Given the description of an element on the screen output the (x, y) to click on. 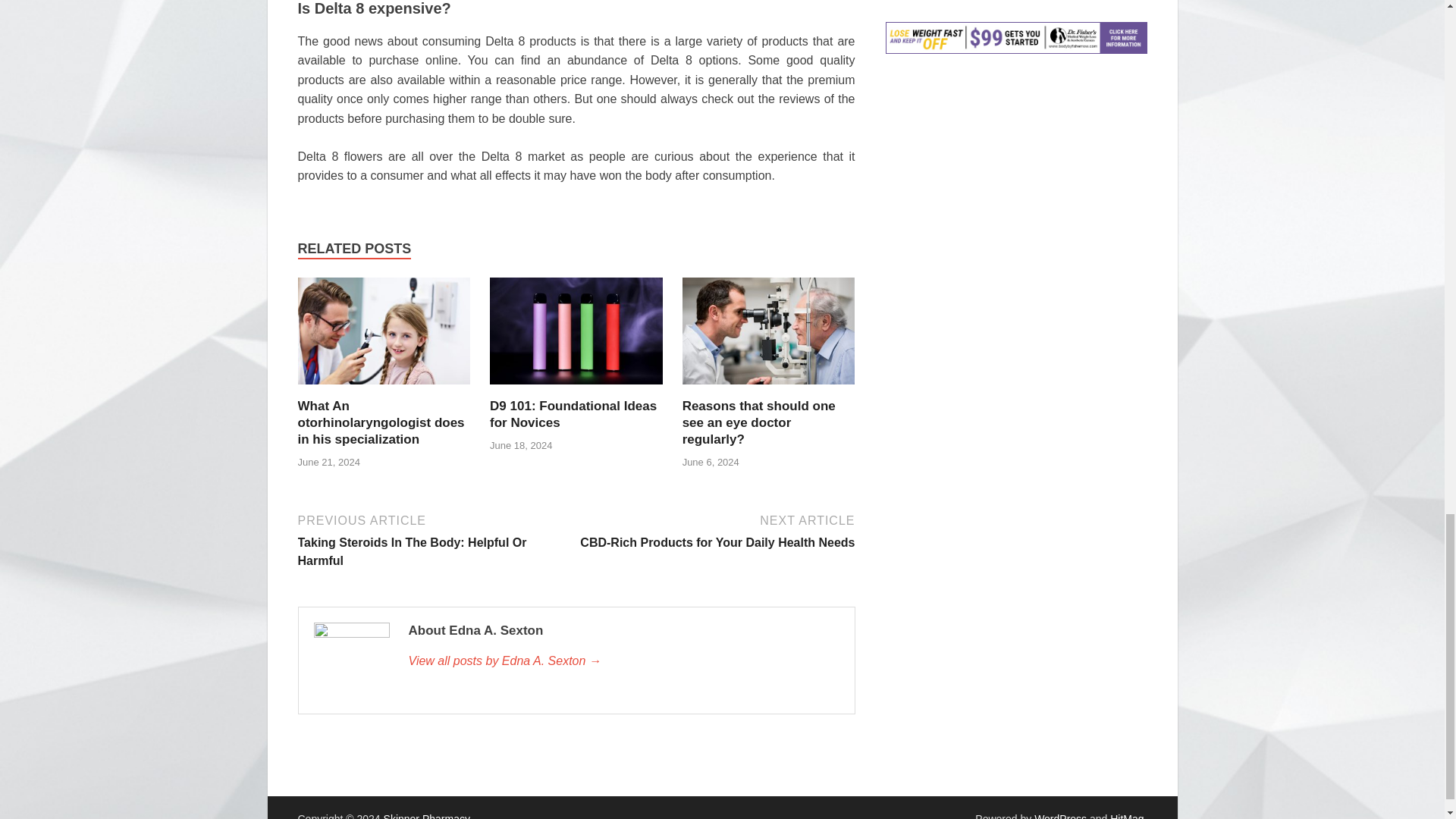
Reasons that should one see an eye doctor regularly? (769, 388)
D9 101: Foundational Ideas for Novices (575, 388)
What An otorhinolaryngologist does in his specialization (383, 388)
D9 101: Foundational Ideas for Novices (717, 529)
Reasons that should one see an eye doctor regularly? (572, 413)
Edna A. Sexton (758, 422)
Reasons that should one see an eye doctor regularly? (622, 660)
What An otorhinolaryngologist does in his specialization (758, 422)
D9 101: Foundational Ideas for Novices (380, 422)
What An otorhinolaryngologist does in his specialization (572, 413)
